Given the description of an element on the screen output the (x, y) to click on. 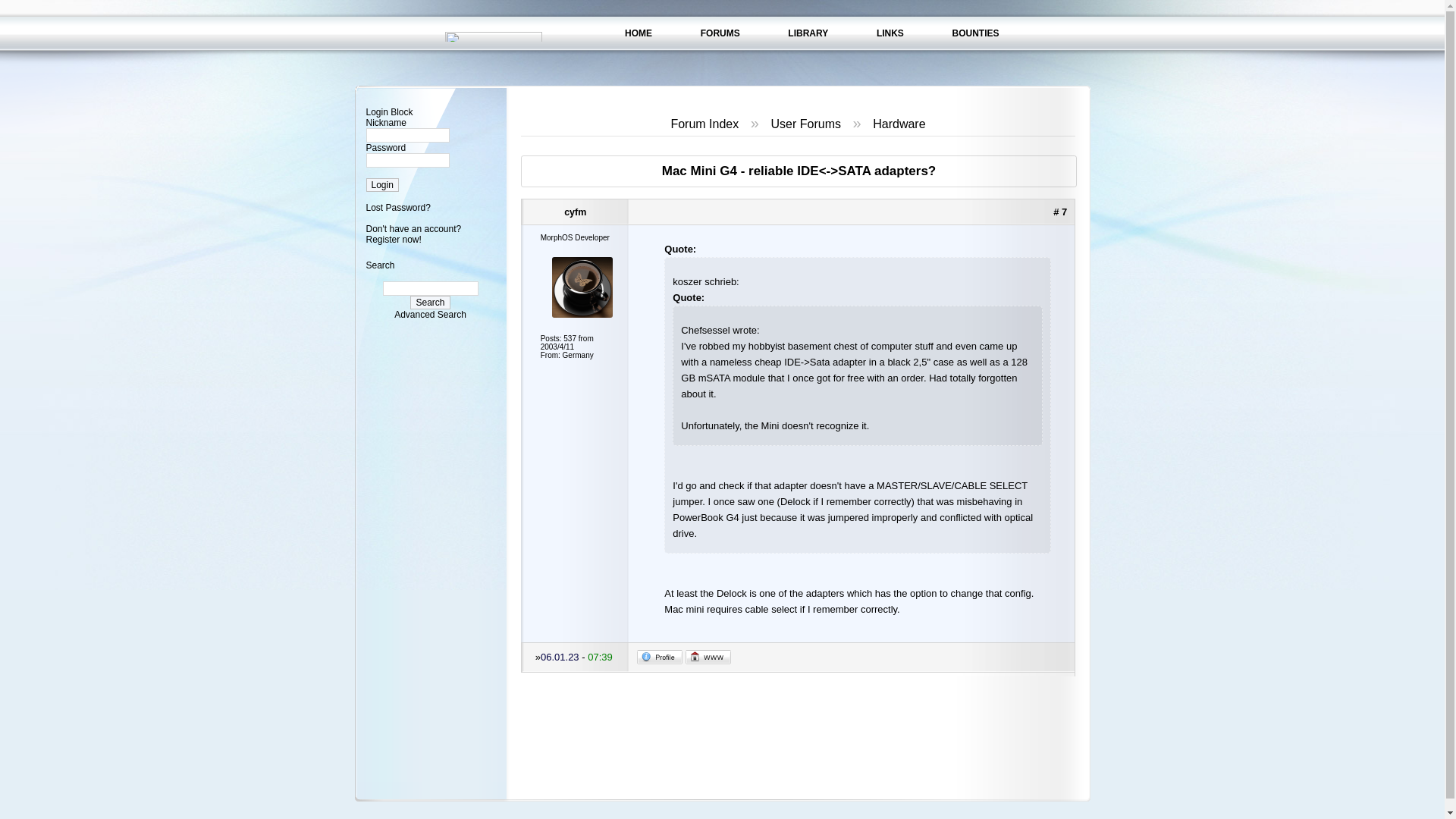
Hardware (898, 123)
Lost Password? (397, 207)
Search (429, 302)
Login (381, 184)
Advanced Search (429, 314)
Register now! (392, 239)
HOME (638, 32)
LIBRARY (807, 32)
Show alone this post... (1059, 211)
Forum Index (703, 123)
